Given the description of an element on the screen output the (x, y) to click on. 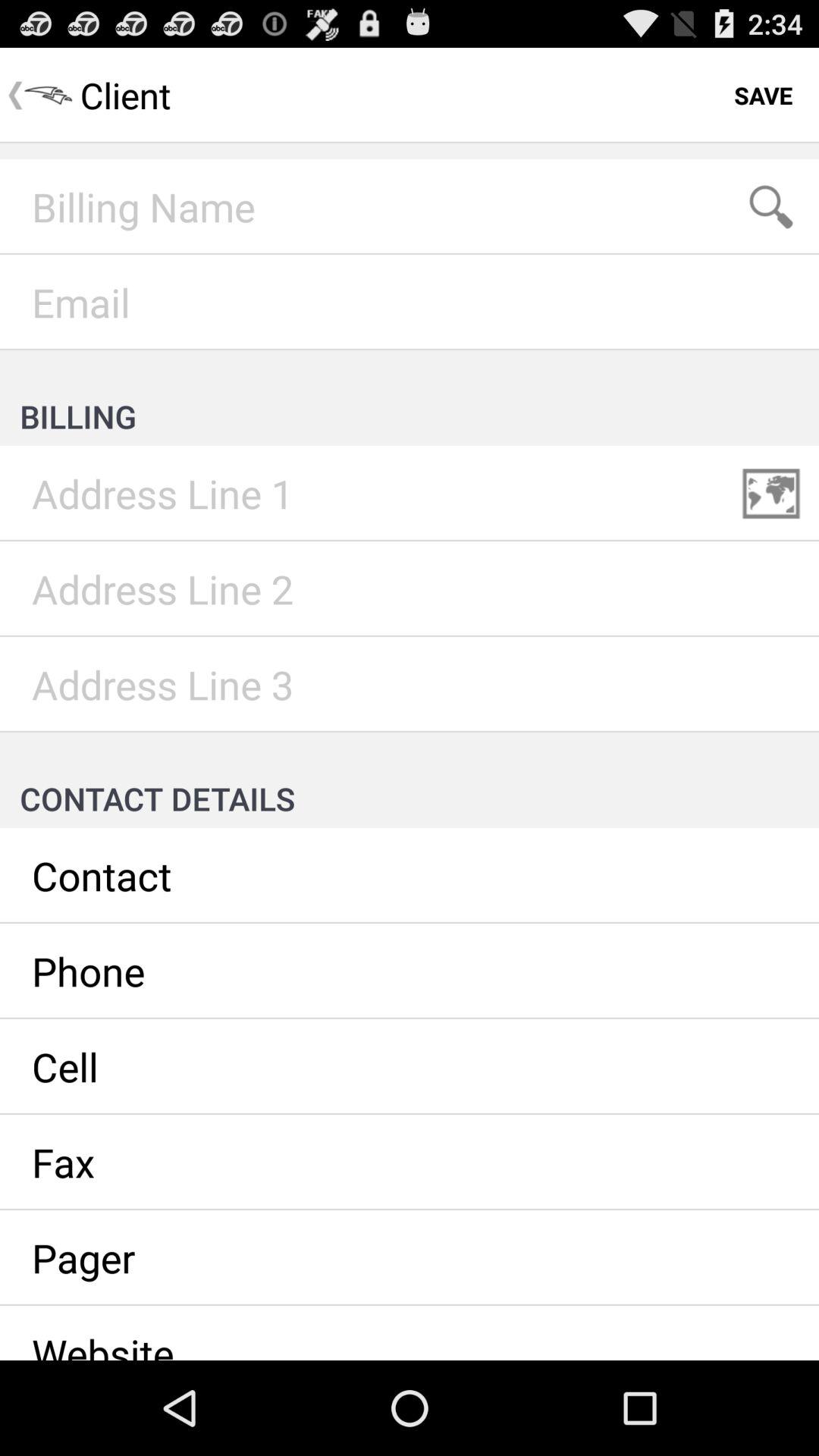
address line 1 billing (409, 493)
